Given the description of an element on the screen output the (x, y) to click on. 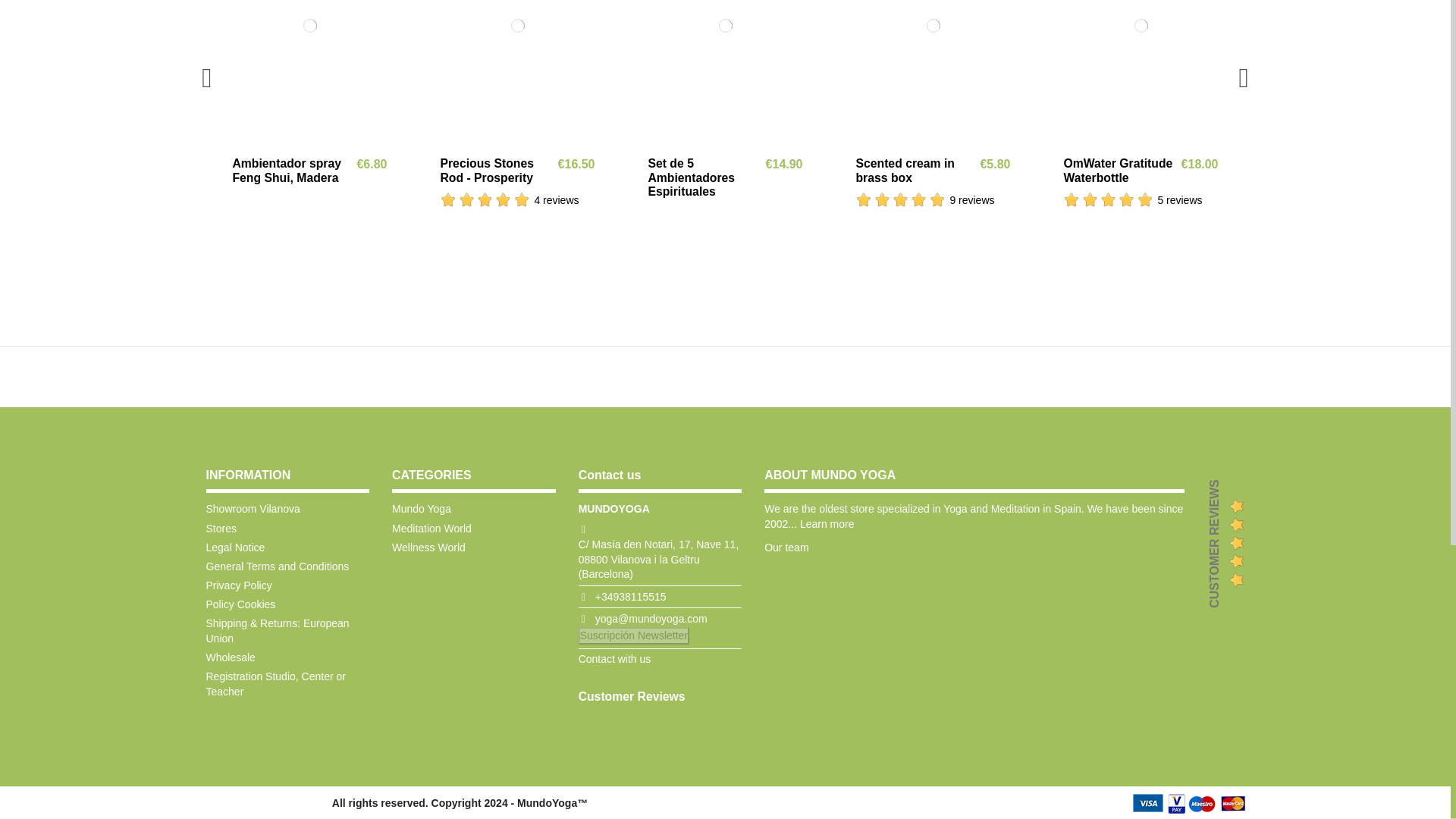
General Terms and Conditions (277, 566)
What our customers think about us (631, 696)
Our shipping terms and conditions (287, 631)
